Given the description of an element on the screen output the (x, y) to click on. 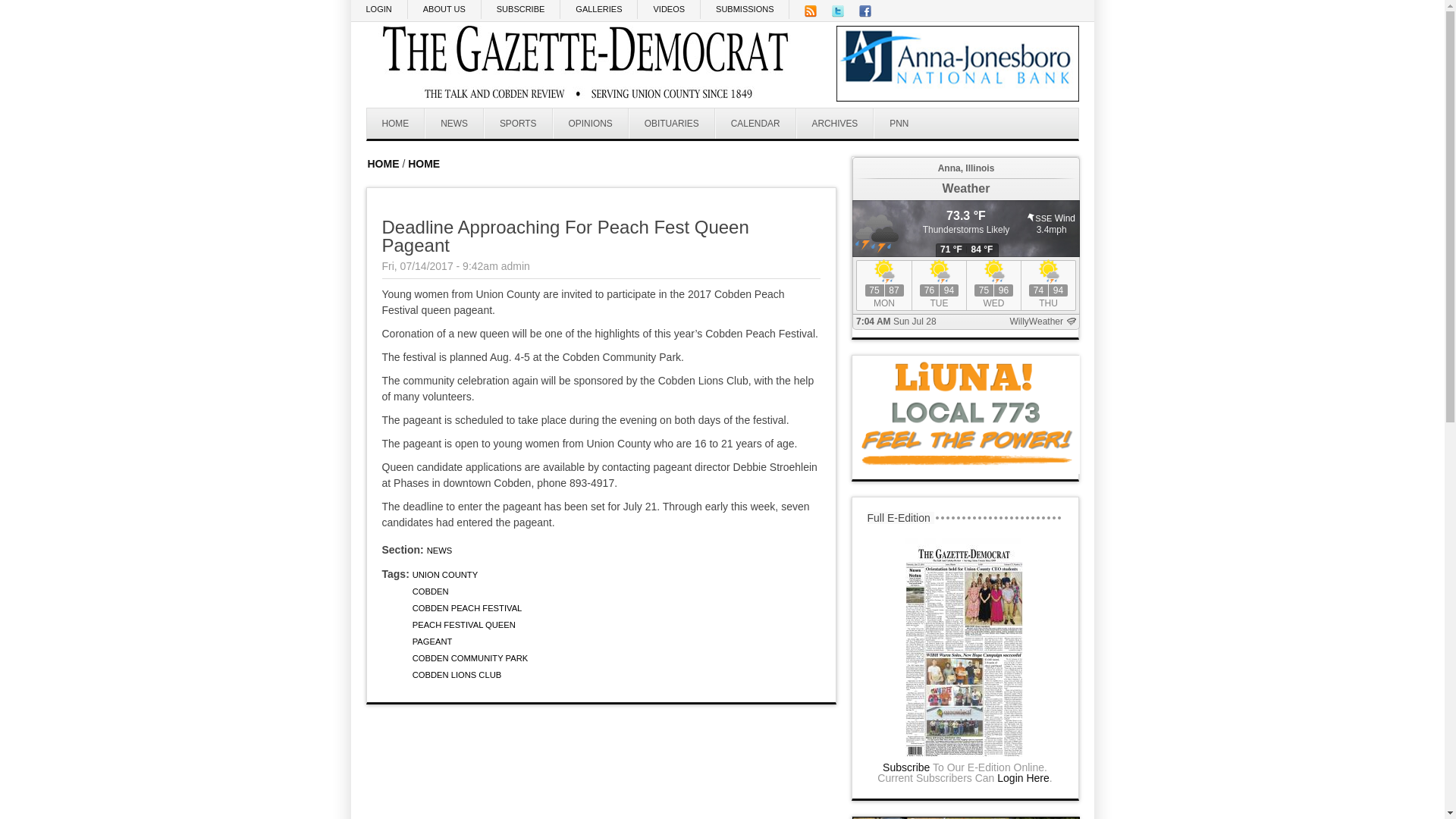
PNN (898, 123)
CALENDAR (755, 123)
News (454, 123)
VIDEOS (668, 9)
HOME (395, 123)
SUBSCRIBE (520, 9)
UNION COUNTY (444, 574)
SPORTS (518, 123)
ARCHIVES (835, 123)
PEACH FESTIVAL QUEEN (463, 624)
Login Here (1023, 777)
SUBMISSIONS (744, 9)
Obituaries (671, 123)
LOGIN (378, 9)
HOME (423, 163)
